Given the description of an element on the screen output the (x, y) to click on. 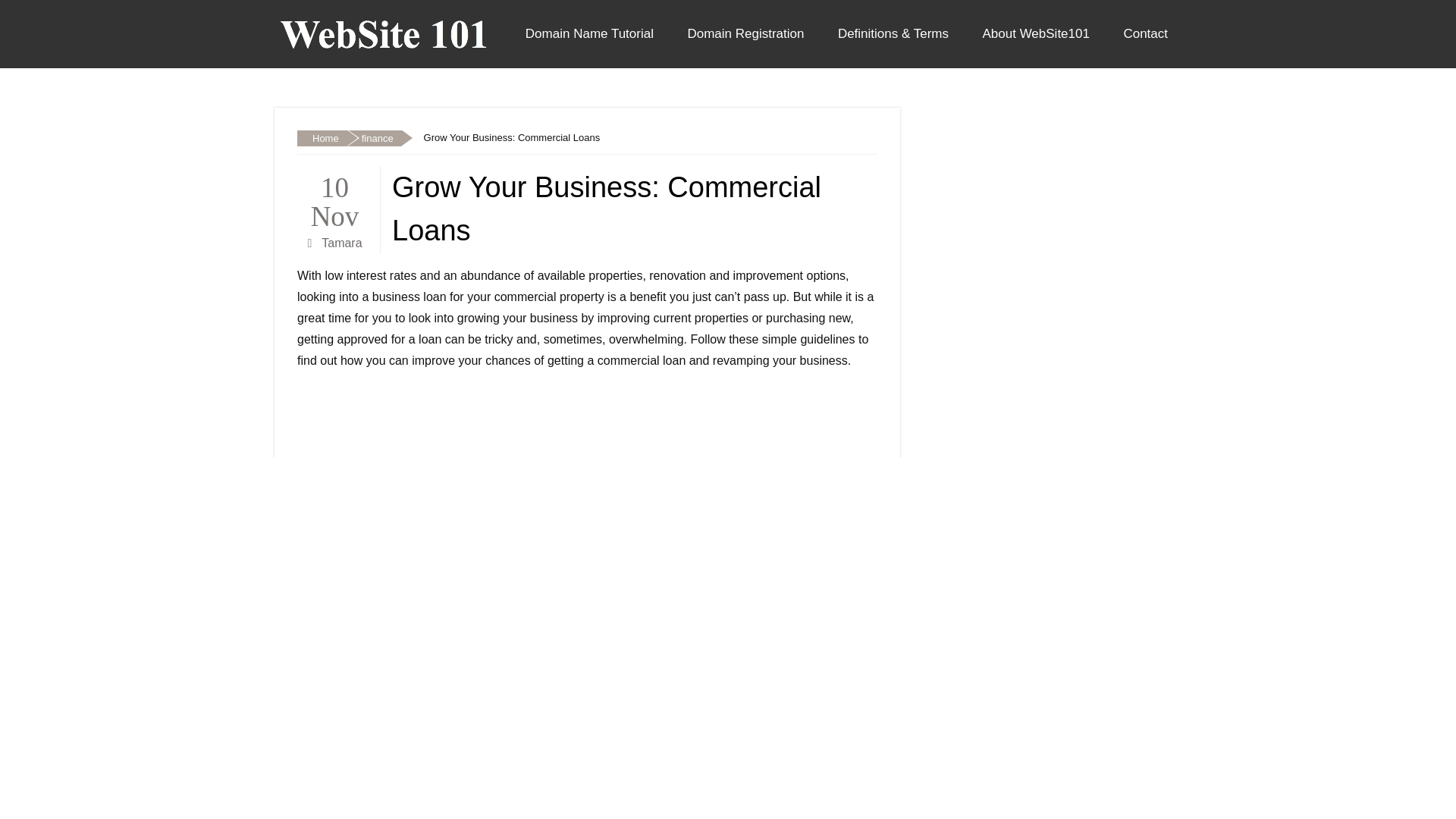
About WebSite101 (1034, 33)
finance (373, 138)
Domain Name Tutorial (589, 33)
Domain Registration (744, 33)
2011-11-10 (334, 198)
Contact (1145, 33)
Home (321, 138)
